Given the description of an element on the screen output the (x, y) to click on. 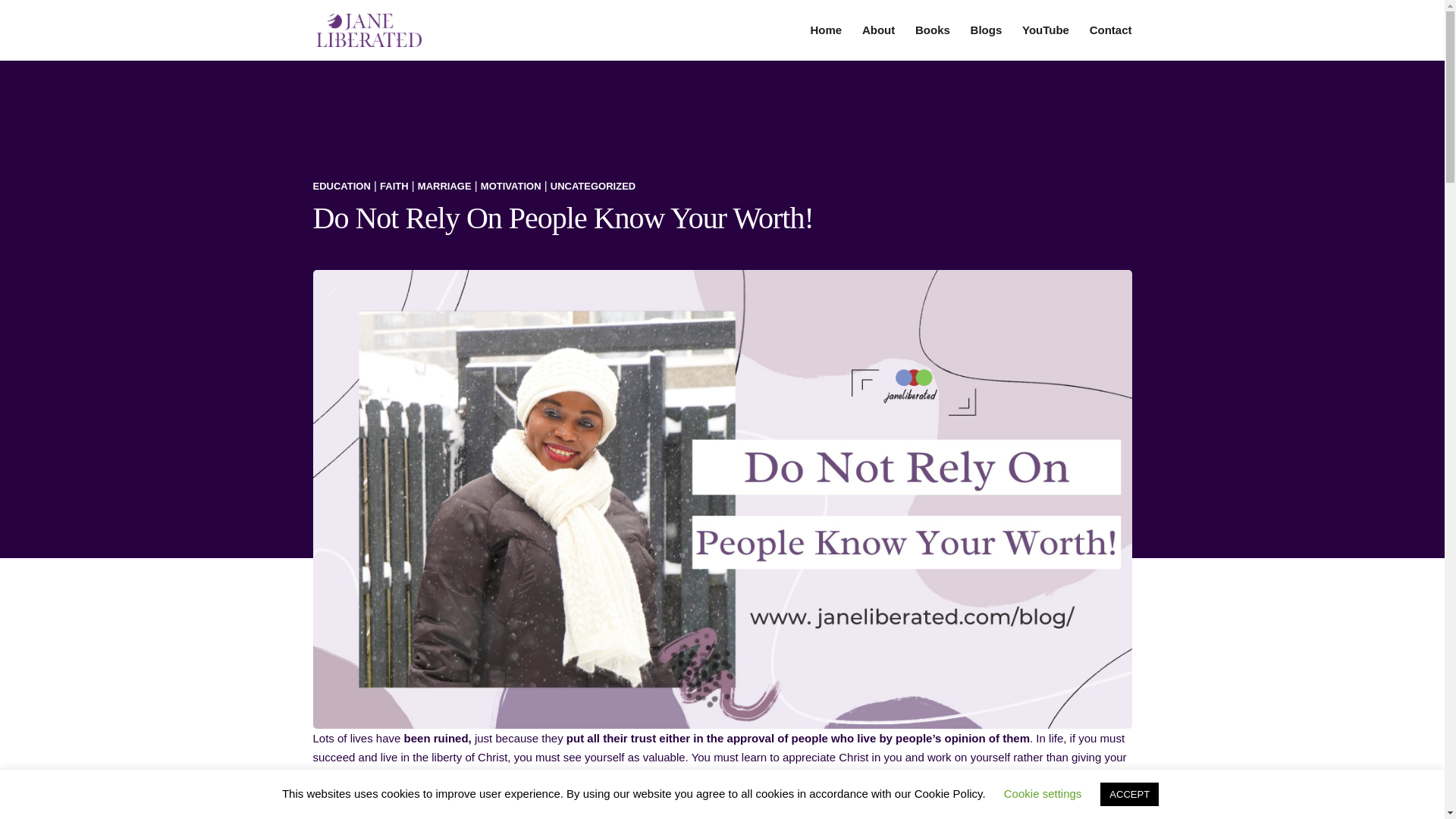
MARRIAGE (444, 185)
Contact (1110, 42)
Books (932, 42)
FAITH (394, 185)
About (878, 42)
Cookie settings (1042, 793)
Home (826, 42)
Blogs (987, 42)
YouTube (1045, 42)
EDUCATION (341, 185)
MOTIVATION (510, 185)
UNCATEGORIZED (592, 185)
